Given the description of an element on the screen output the (x, y) to click on. 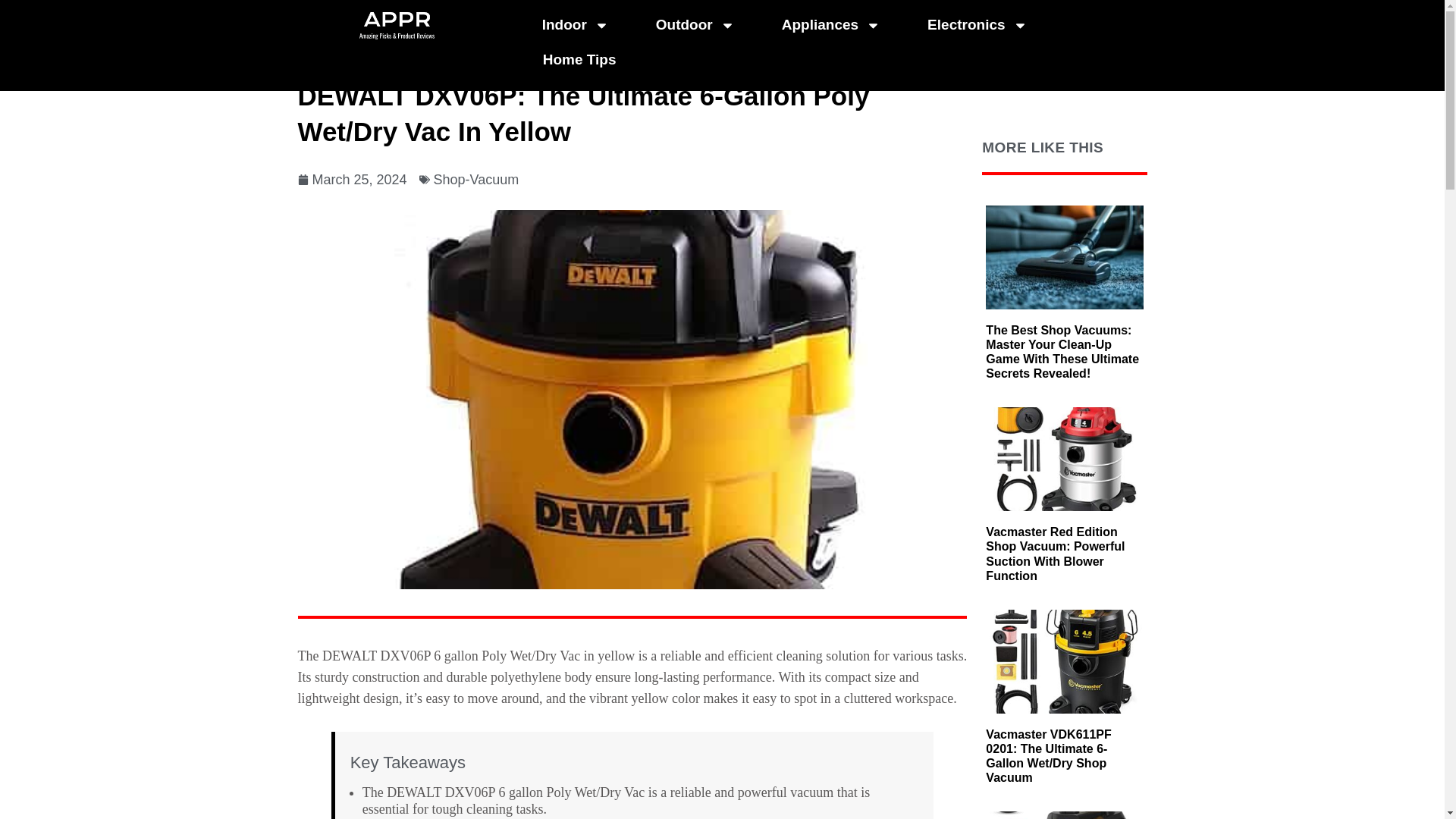
Outdoor (695, 24)
Indoor (575, 24)
Appliances (830, 24)
Electronics (976, 24)
